Given the description of an element on the screen output the (x, y) to click on. 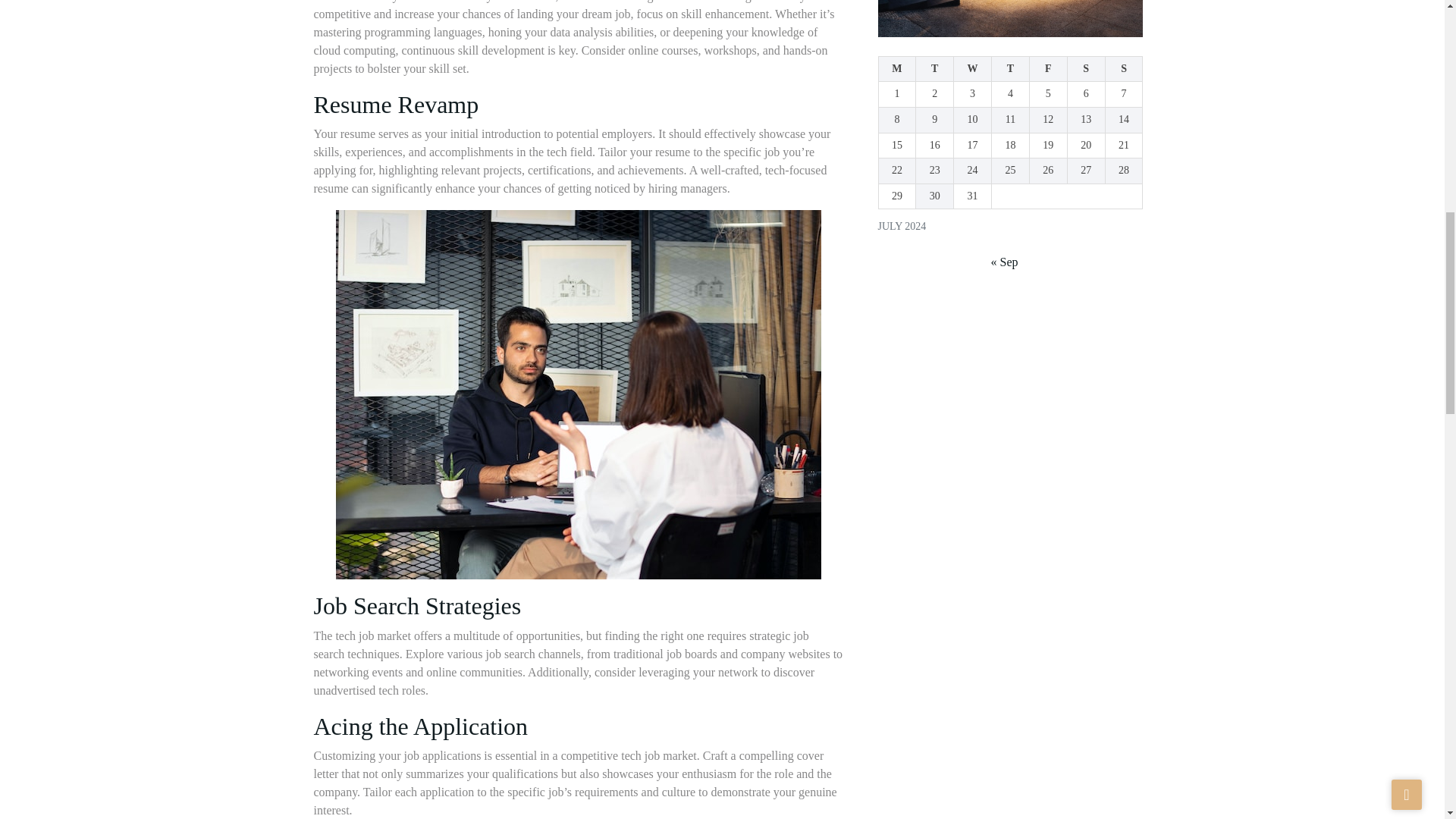
Saturday (1086, 68)
Wednesday (972, 68)
Monday (896, 68)
Sunday (1123, 68)
Tuesday (934, 68)
Friday (1048, 68)
Thursday (1010, 68)
